Given the description of an element on the screen output the (x, y) to click on. 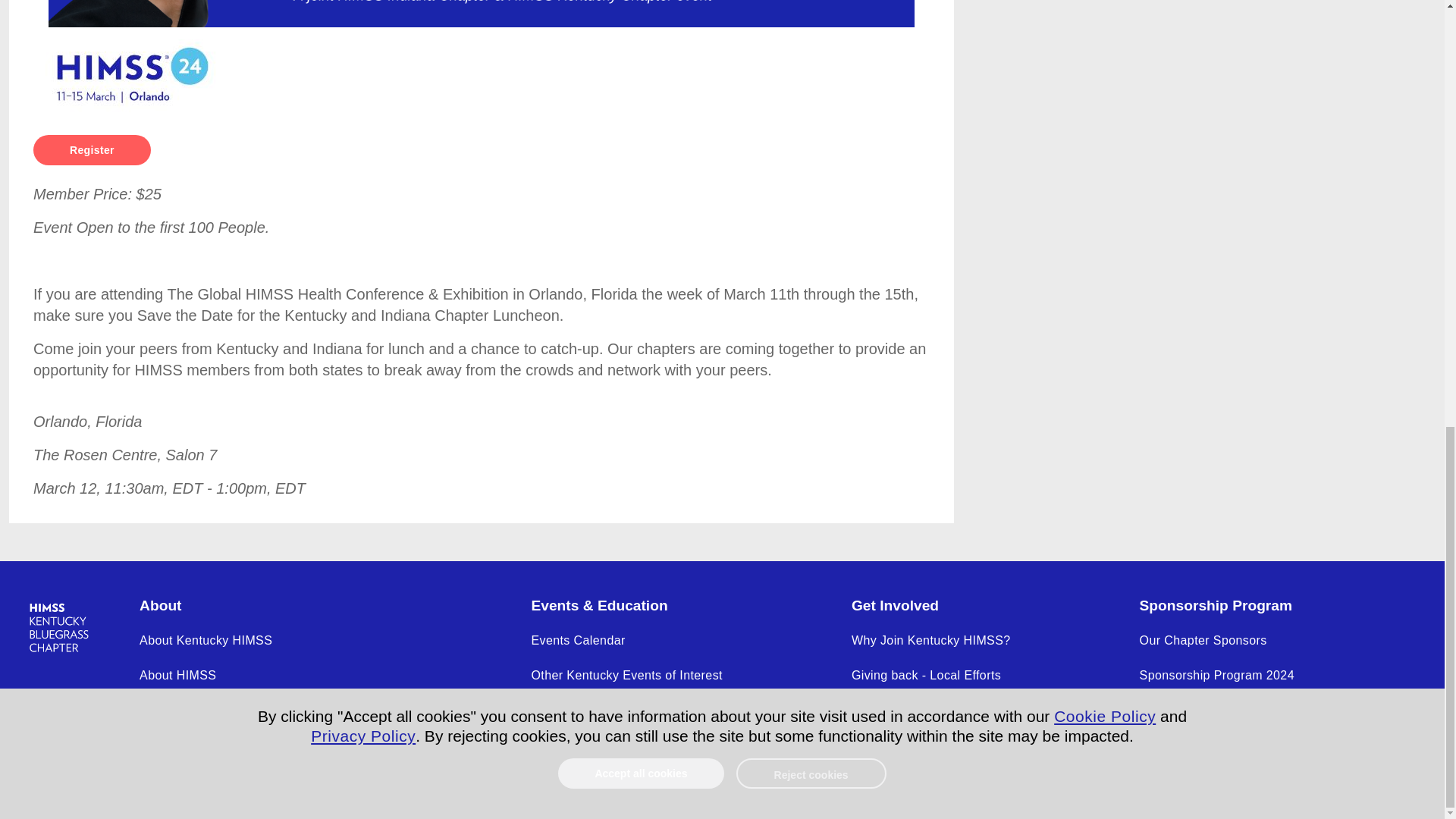
Himss.org (71, 627)
